Given the description of an element on the screen output the (x, y) to click on. 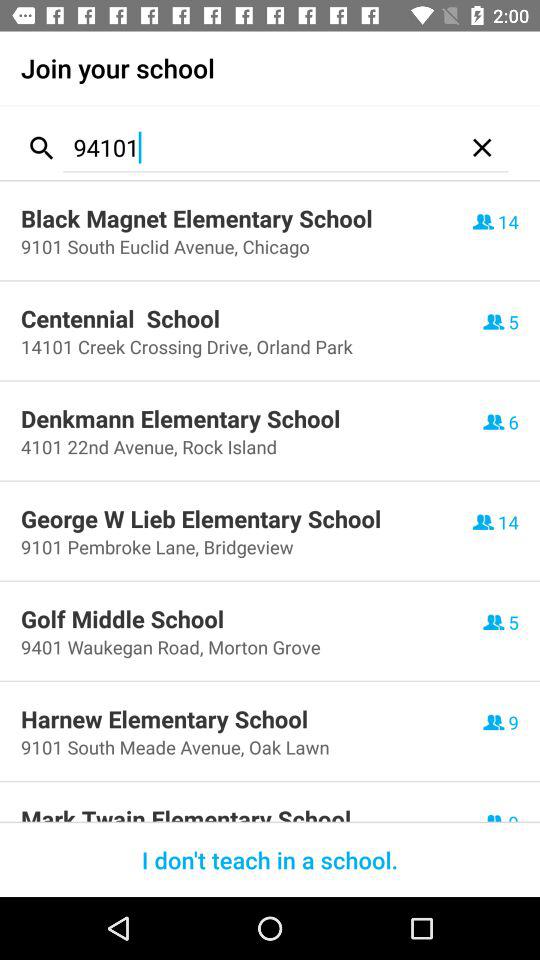
turn on the 94101 (259, 147)
